Given the description of an element on the screen output the (x, y) to click on. 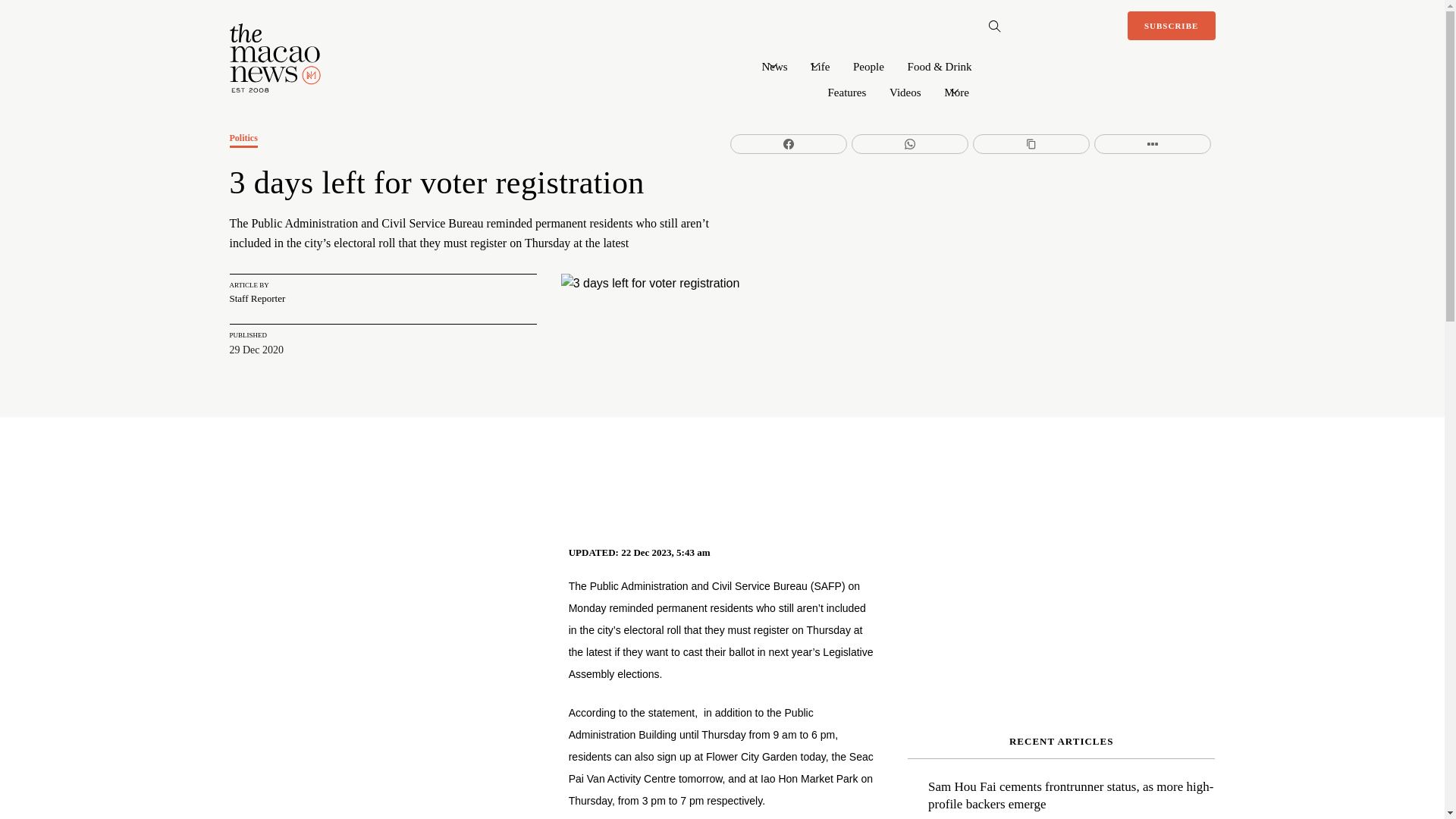
Share on Facebook (788, 143)
Share on More Button (1152, 143)
Share on Copy Link (1030, 143)
Share on WhatsApp (909, 143)
